Given the description of an element on the screen output the (x, y) to click on. 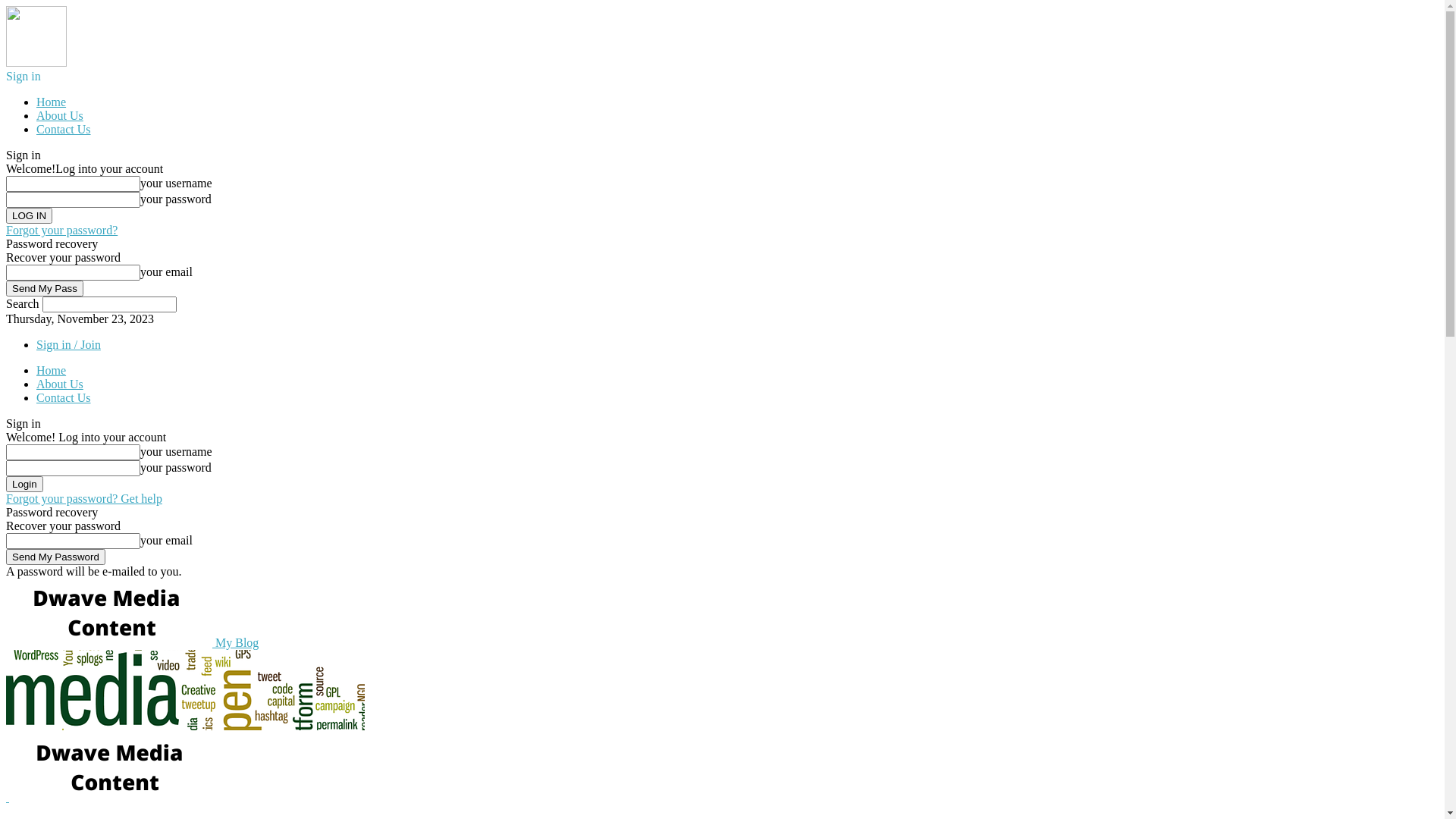
About Us Element type: text (59, 115)
Home Element type: text (50, 101)
Sign in / Join Element type: text (68, 344)
Contact Us Element type: text (63, 128)
Forgot your password? Element type: text (61, 229)
Sign in Element type: text (23, 75)
Contact Us Element type: text (63, 397)
About Us Element type: text (59, 383)
Home Element type: text (50, 370)
My Blog Element type: text (132, 642)
Forgot your password? Get help Element type: text (84, 498)
